Given the description of an element on the screen output the (x, y) to click on. 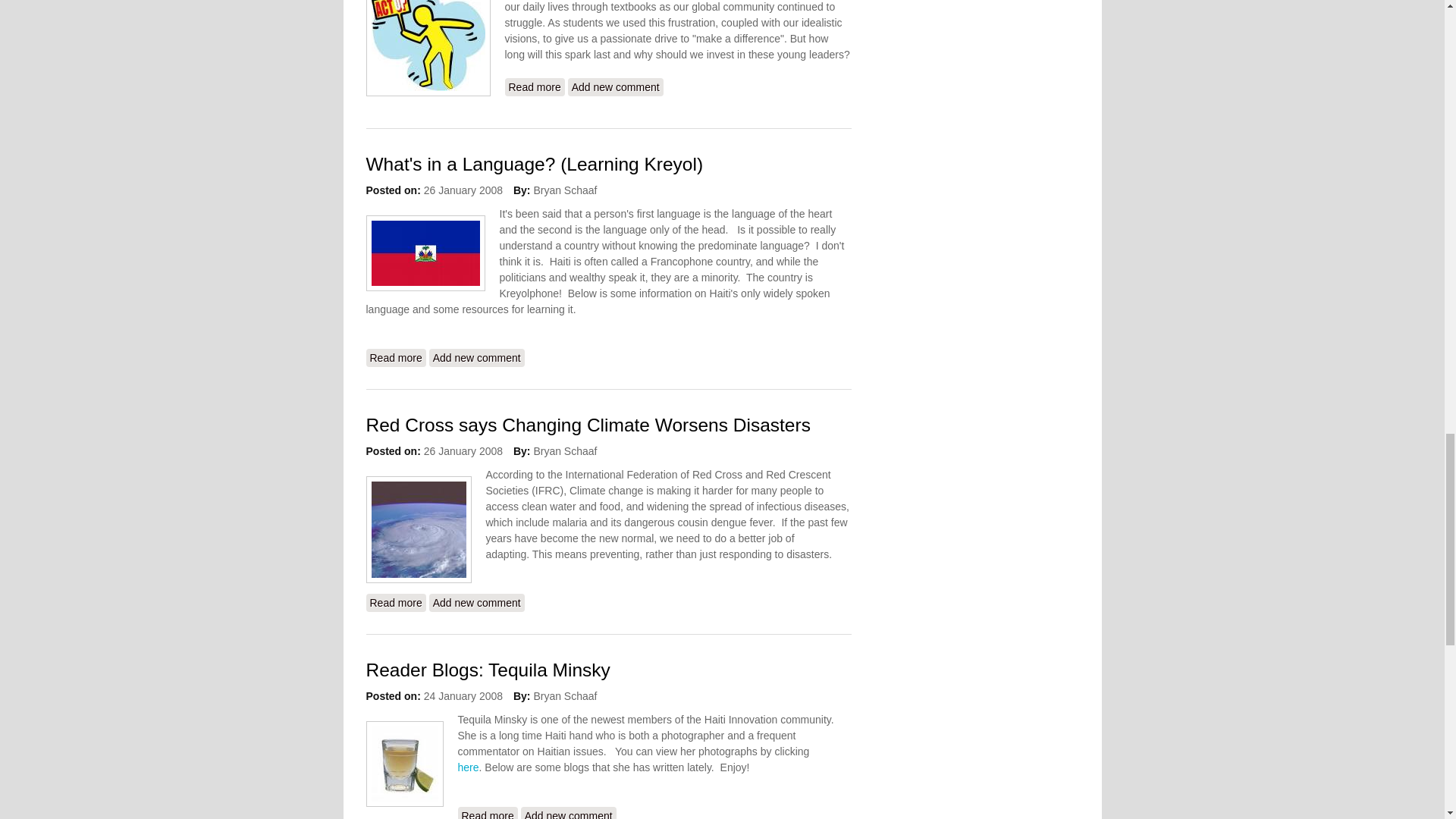
Add new comment (476, 357)
Add new comment (568, 812)
Add new comment (476, 602)
Add a new comment to this page. (615, 86)
Add a new comment to this page. (476, 357)
Reader Blogs: Tequila Minsky (487, 670)
Red Cross says Changing Climate Worsens Disasters (587, 424)
Reader Blogs:  Tequila Minsky (488, 812)
Red Cross says Changing Climate Worsens Disasters (488, 812)
Bridging the Gap: Peace by Peace (395, 602)
Add new comment (534, 86)
here (534, 86)
